Given the description of an element on the screen output the (x, y) to click on. 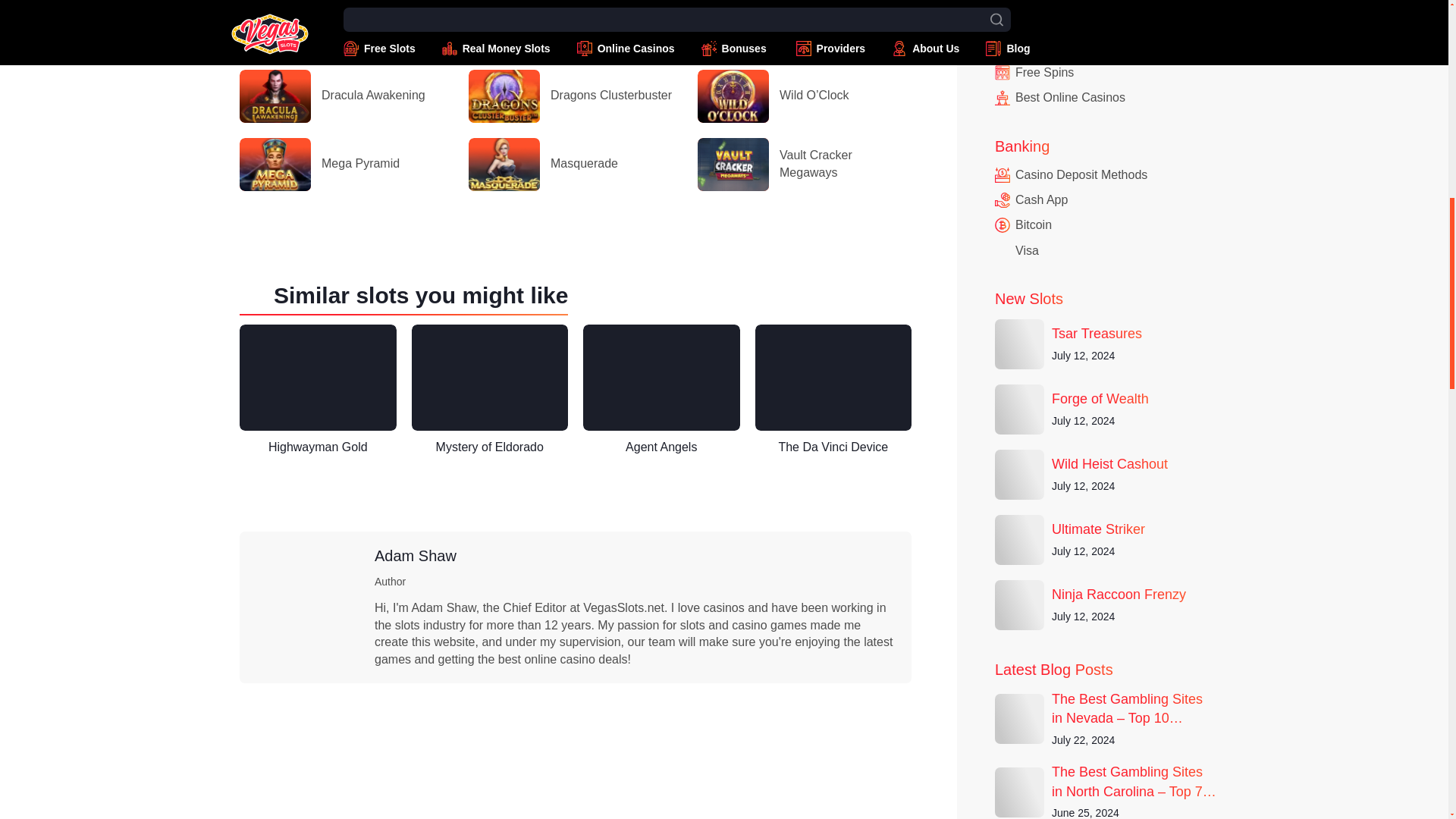
Posts By Adam Shaw (415, 555)
